Given the description of an element on the screen output the (x, y) to click on. 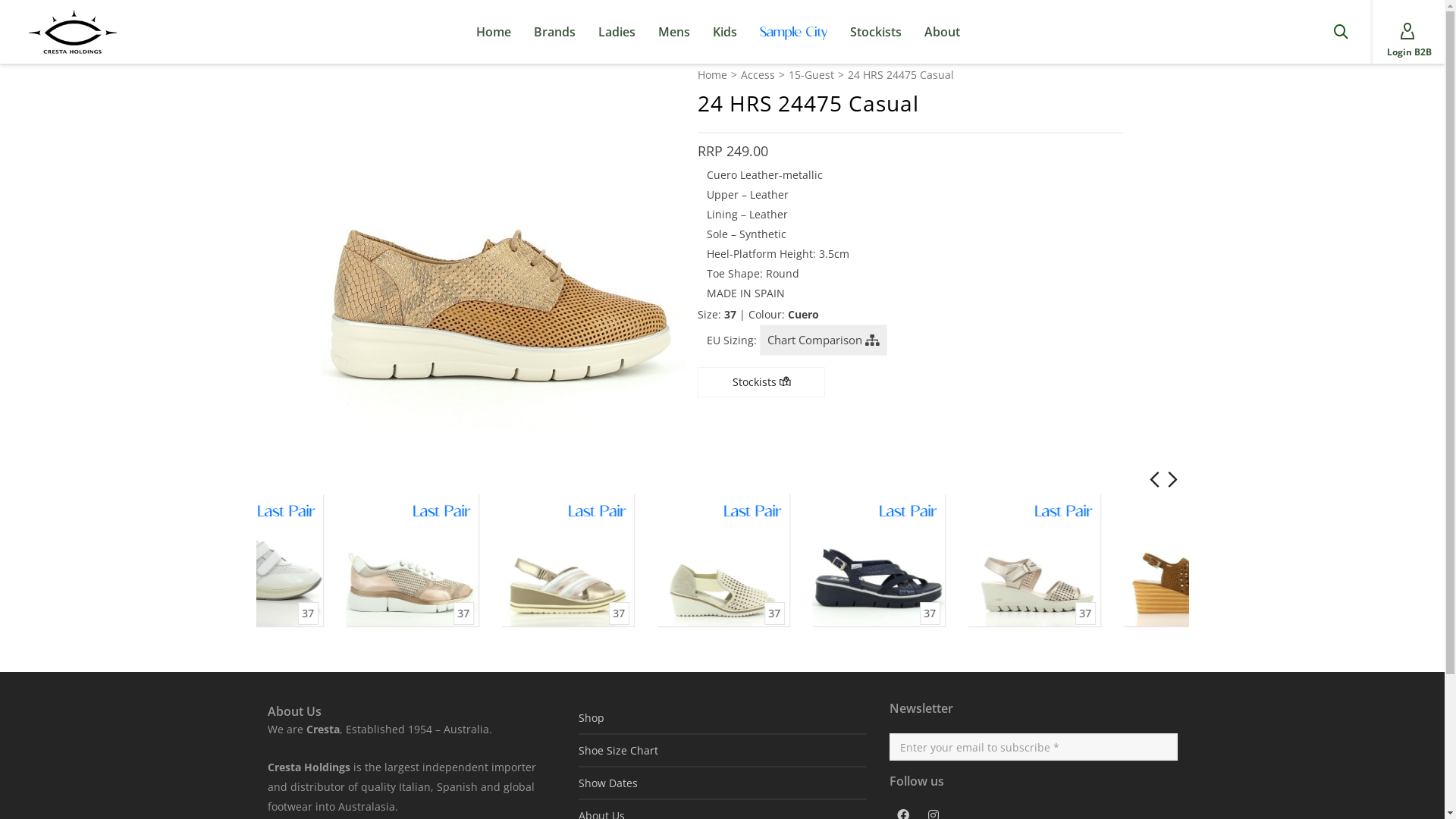
Access Element type: text (757, 74)
Ladies Element type: text (616, 31)
Stockists Element type: text (760, 381)
Home Element type: text (493, 31)
Stockists Element type: text (875, 31)
15-Guest Element type: text (811, 74)
Shop Element type: text (721, 717)
Shoe Size Chart Element type: text (721, 749)
Show Dates Element type: text (721, 782)
Chart Comparison Element type: text (823, 339)
Brands Element type: text (554, 31)
Kids Element type: text (724, 31)
About Element type: text (942, 31)
Home Element type: text (712, 74)
Mens Element type: text (673, 31)
